Given the description of an element on the screen output the (x, y) to click on. 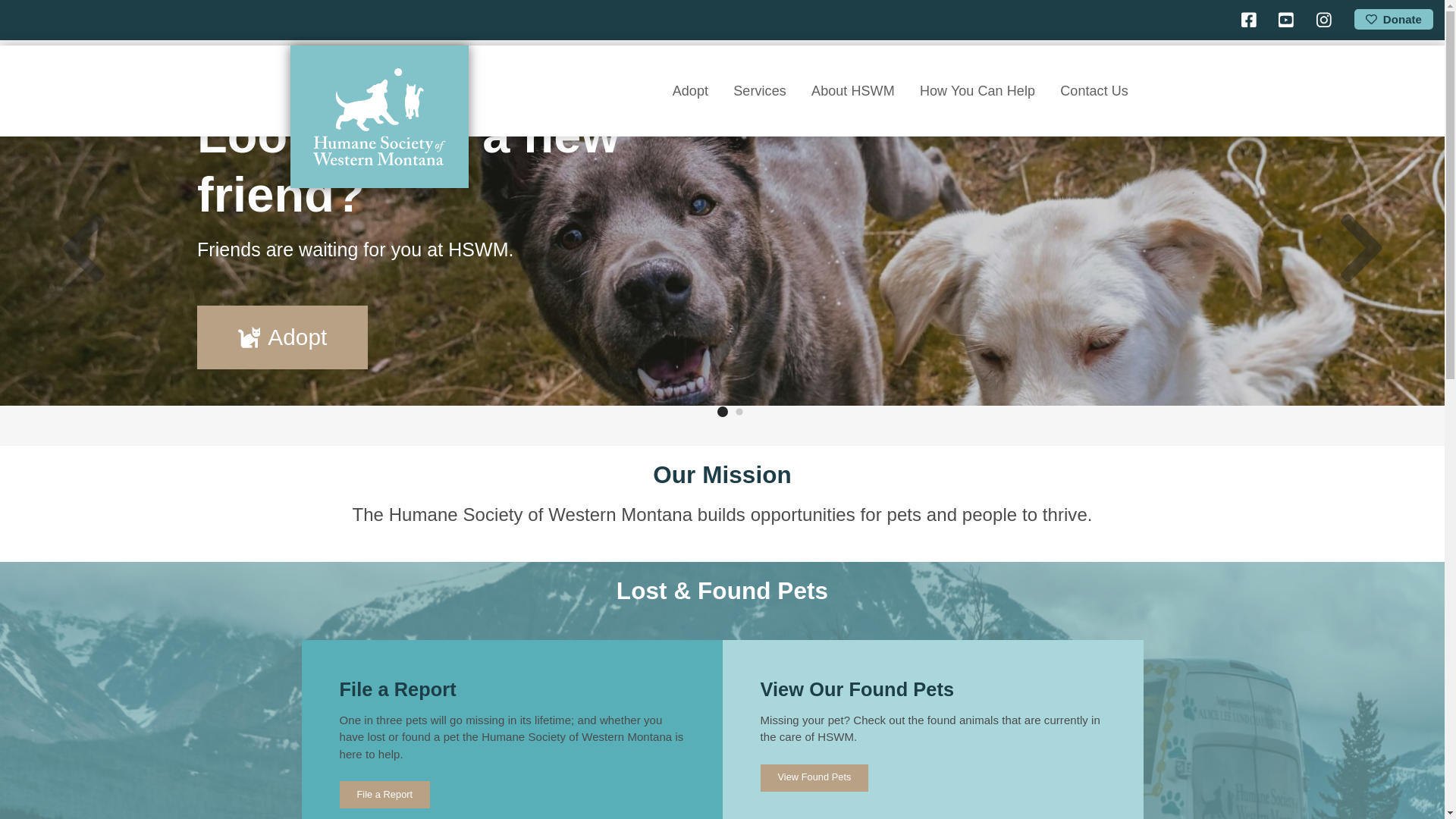
YouTube (1286, 19)
Facebook (1248, 19)
About HSWM (852, 90)
Donate (1393, 19)
Services (759, 90)
How You Can Help (976, 90)
Instagram (1324, 19)
Adopt (690, 90)
